Given the description of an element on the screen output the (x, y) to click on. 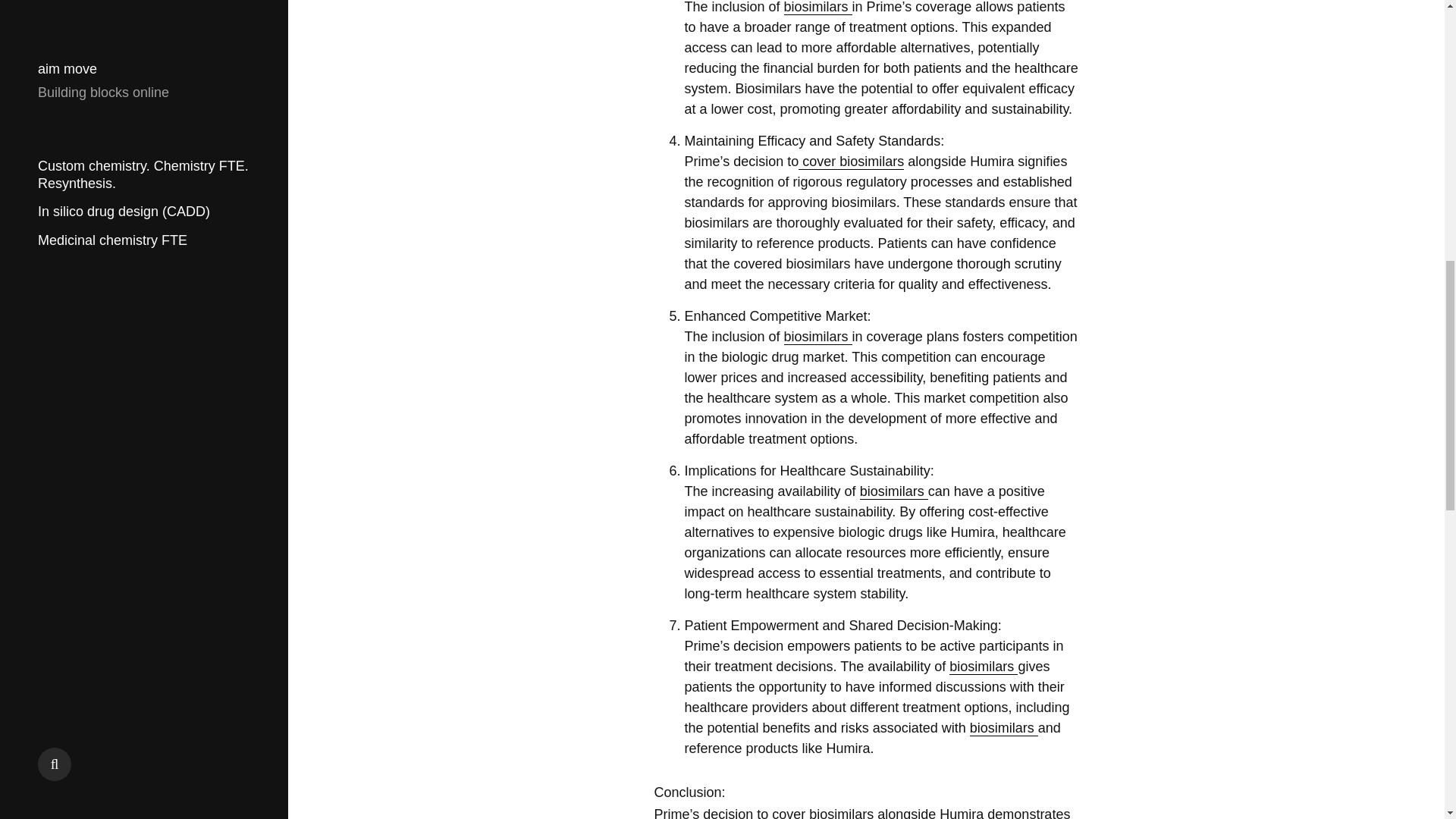
biosimilars (894, 491)
biosimilars (983, 666)
biosimilars (817, 7)
biosimilars (1003, 728)
cover biosimilars (850, 161)
biosimilars (817, 336)
